Given the description of an element on the screen output the (x, y) to click on. 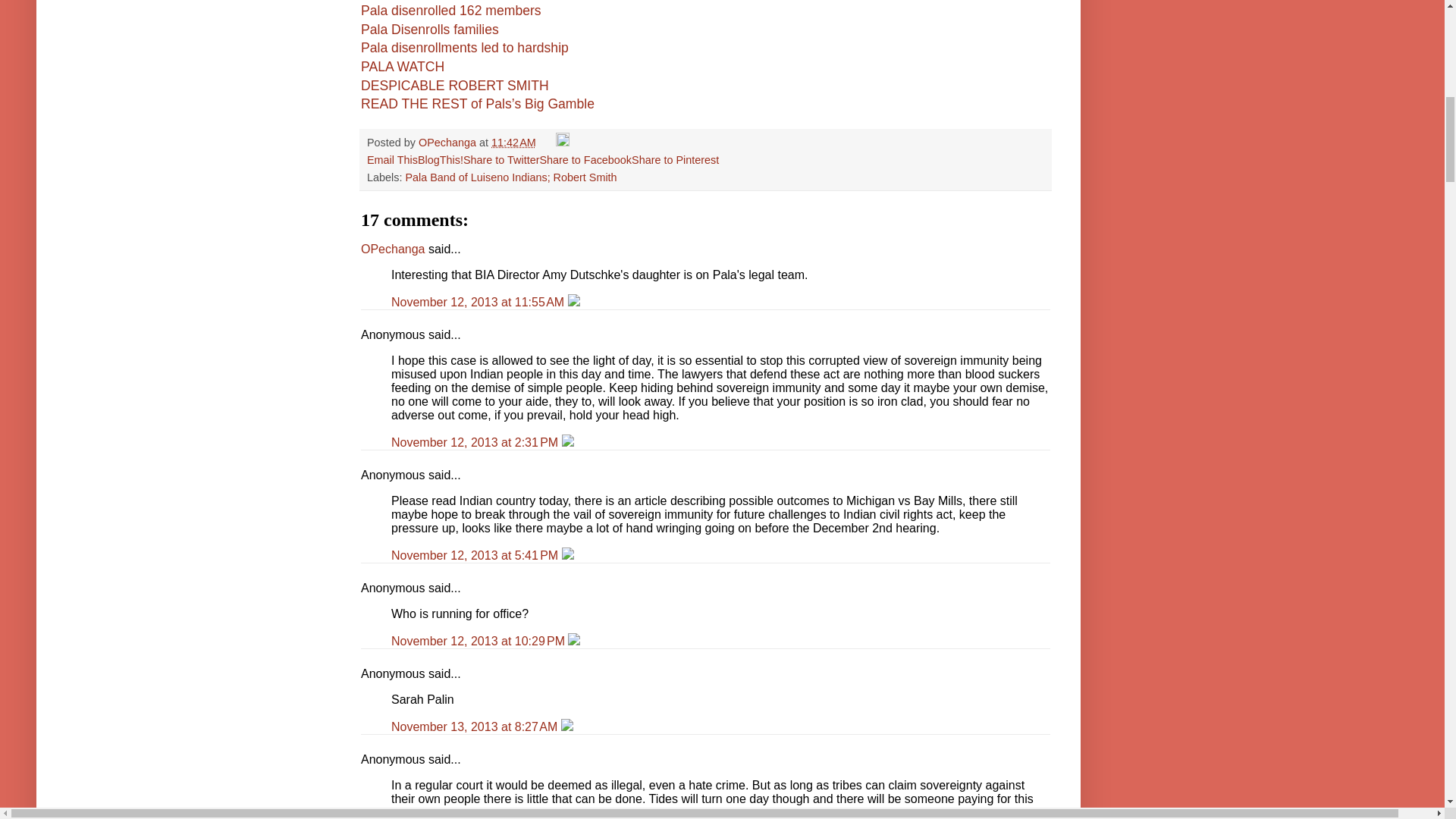
Share to Facebook (584, 159)
Share to Twitter (501, 159)
Email Post (547, 142)
Email This (391, 159)
BlogThis! (440, 159)
Email This (391, 159)
Delete Comment (567, 554)
Share to Pinterest (675, 159)
Share to Pinterest (675, 159)
Share to Twitter (501, 159)
Share to Facebook (584, 159)
BlogThis! (440, 159)
DESPICABLE ROBERT SMITH (454, 85)
Delete Comment (567, 441)
